Given the description of an element on the screen output the (x, y) to click on. 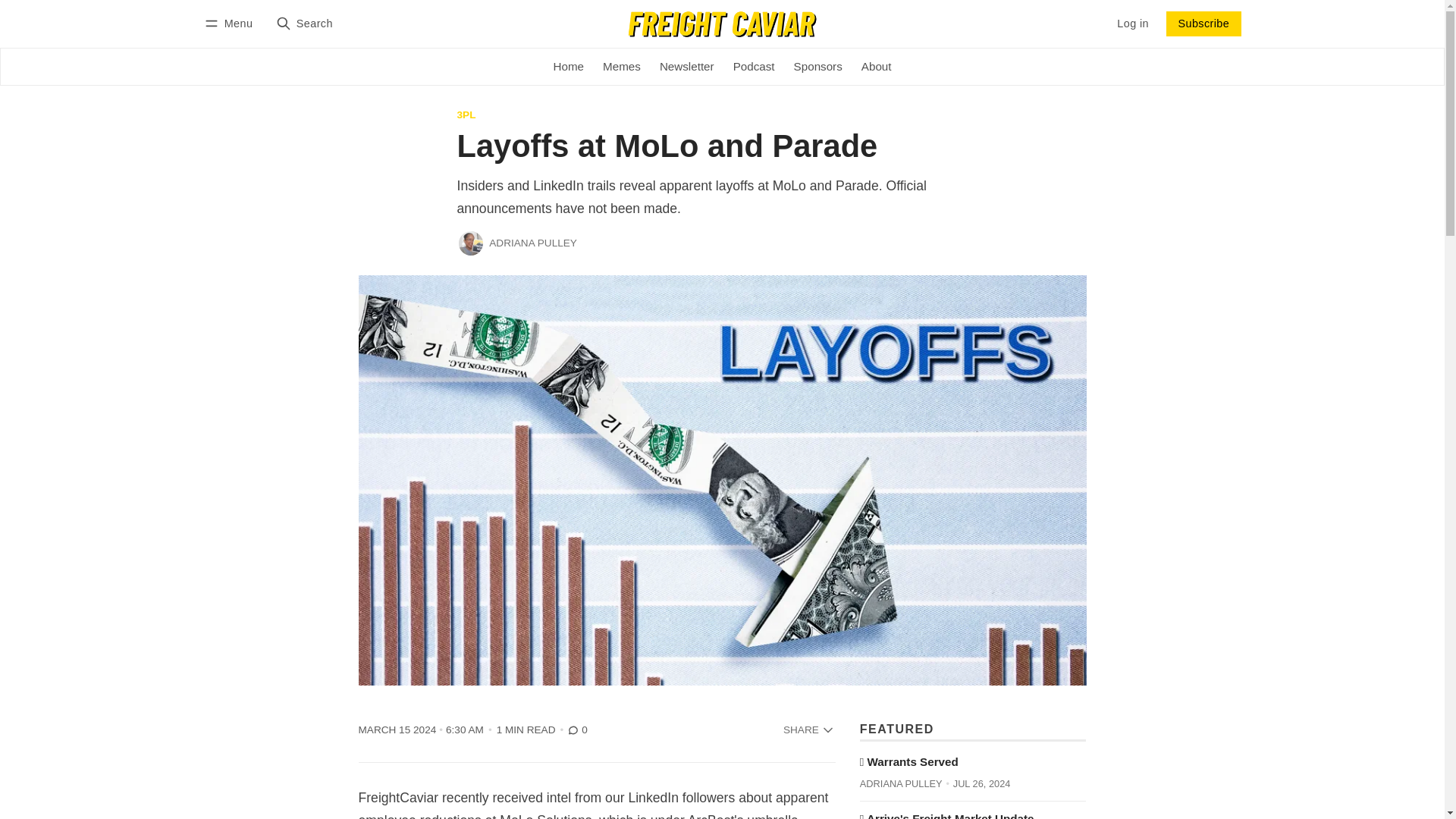
Sponsors (818, 66)
Menu (230, 23)
Podcast (754, 66)
Menu (230, 23)
About (876, 66)
Newsletter (686, 66)
Subscribe (1203, 23)
Search (303, 23)
Search (303, 23)
Adriana Pulley (470, 243)
Memes (620, 66)
Log in (1133, 23)
Home (568, 66)
